Given the description of an element on the screen output the (x, y) to click on. 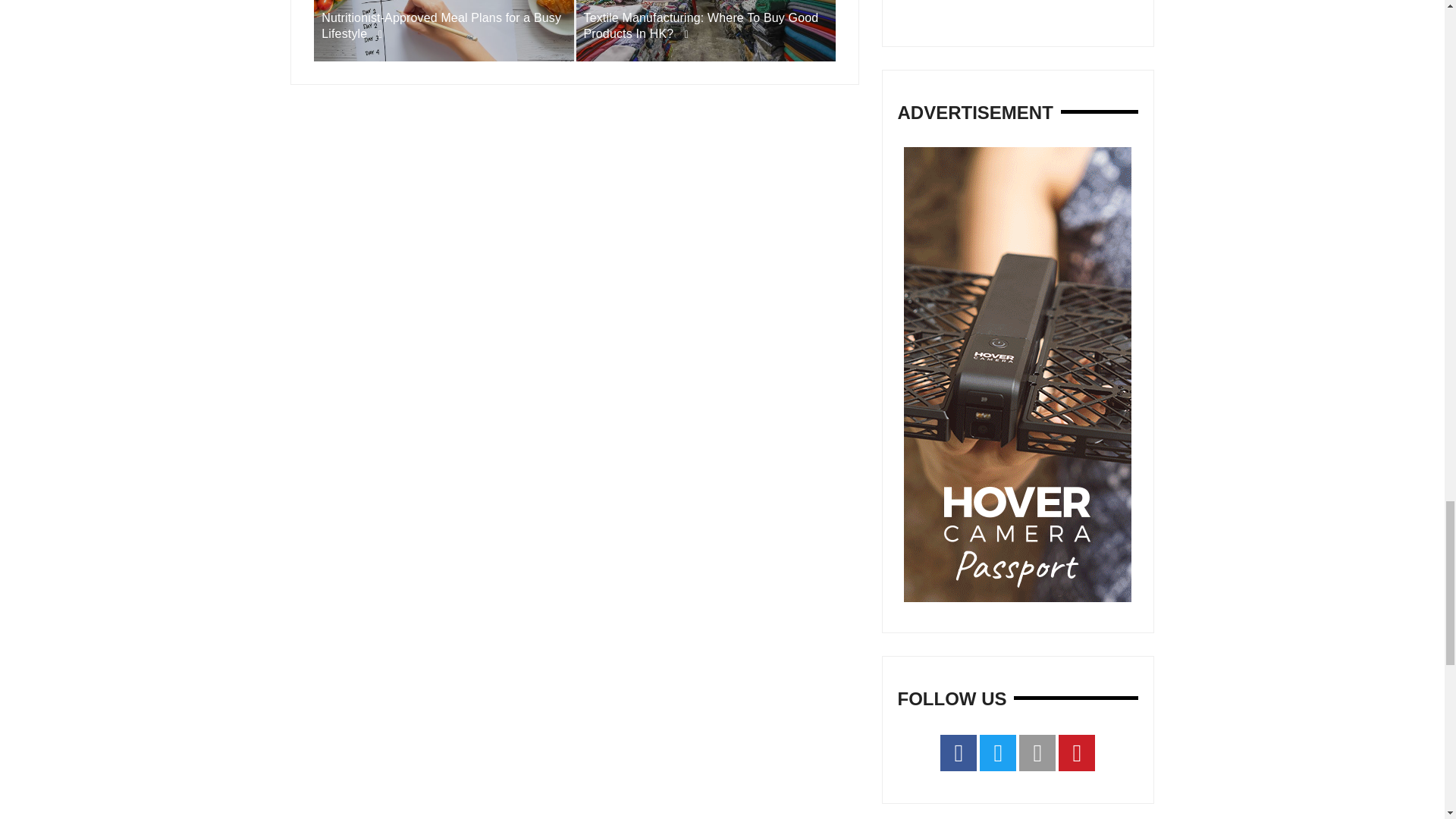
LinkedIn (1037, 752)
Twitter (997, 752)
Pinterest (1076, 752)
Facebook (958, 752)
